Given the description of an element on the screen output the (x, y) to click on. 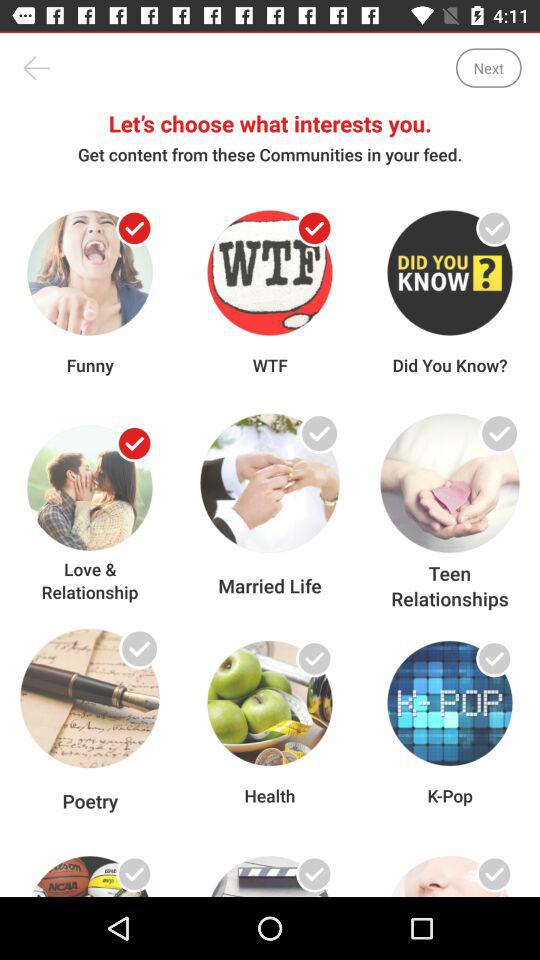
select k-pop as an interest (494, 658)
